Given the description of an element on the screen output the (x, y) to click on. 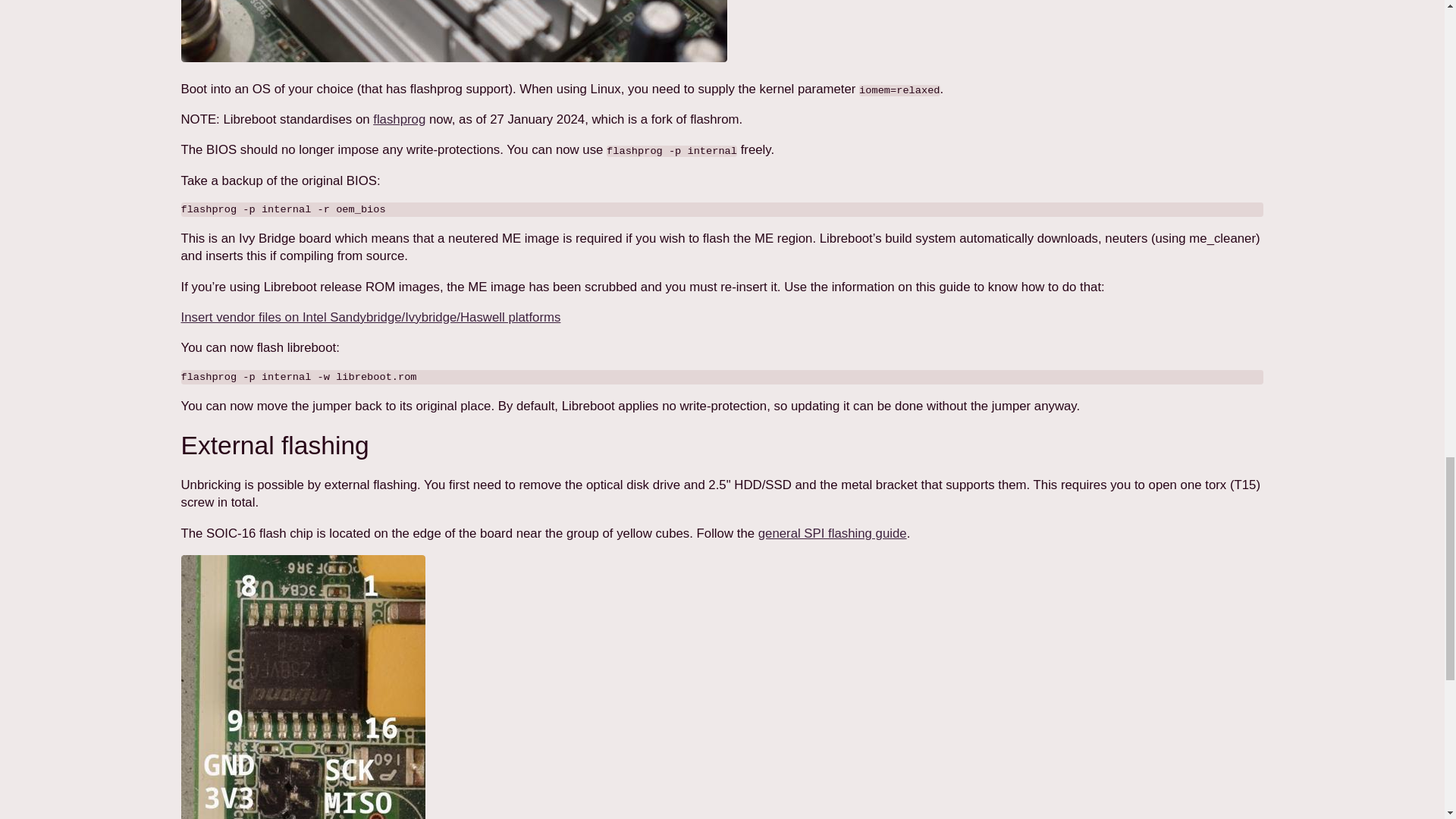
general SPI flashing guide (832, 533)
flashprog (398, 119)
